Given the description of an element on the screen output the (x, y) to click on. 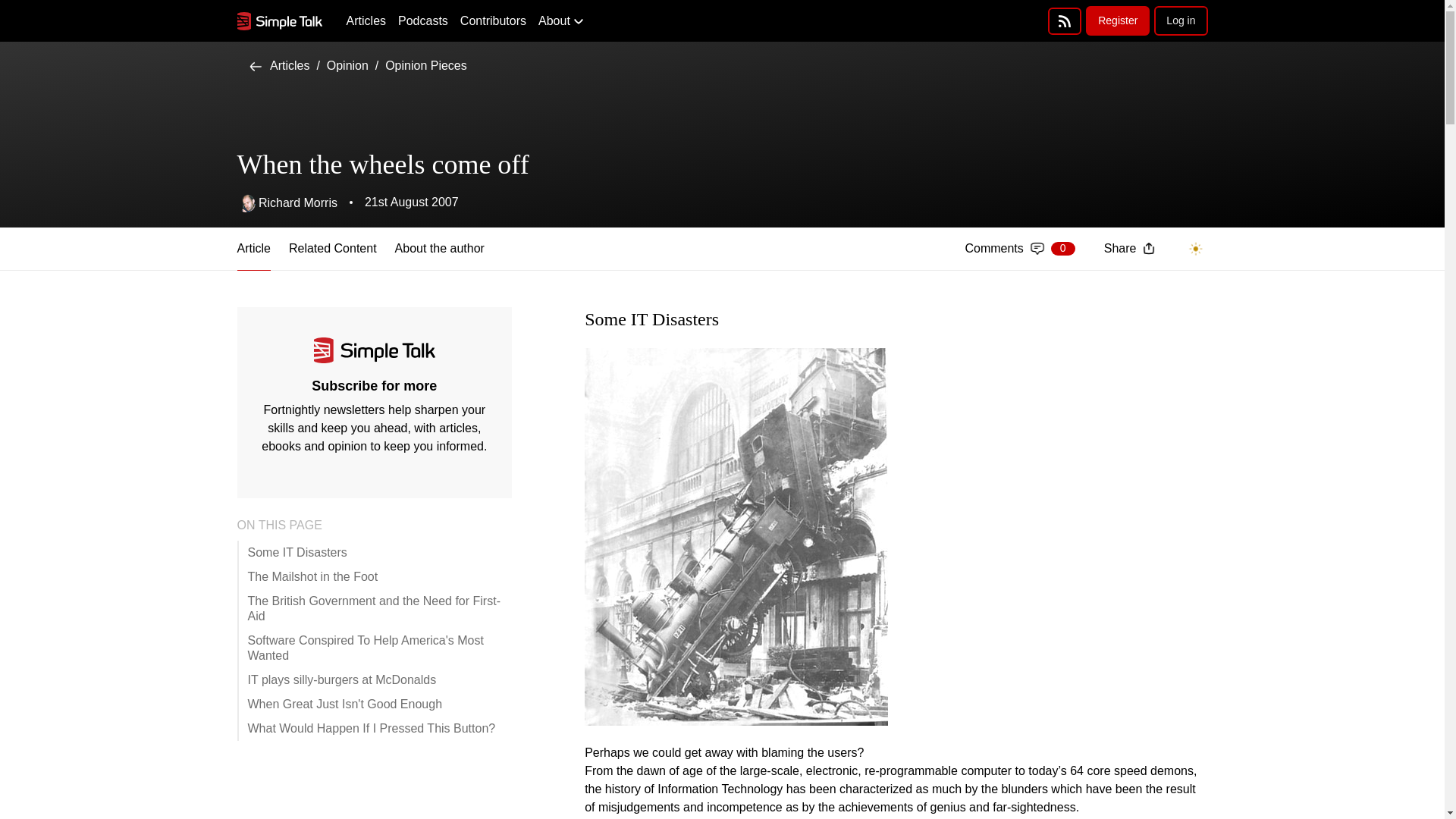
Richard Morris (285, 202)
Log in (1180, 20)
Related Content (332, 248)
Share (1128, 248)
Podcasts (422, 21)
Articles (1018, 248)
Contributors (278, 65)
About (492, 21)
Simple Talk RSS feed (560, 21)
